Given the description of an element on the screen output the (x, y) to click on. 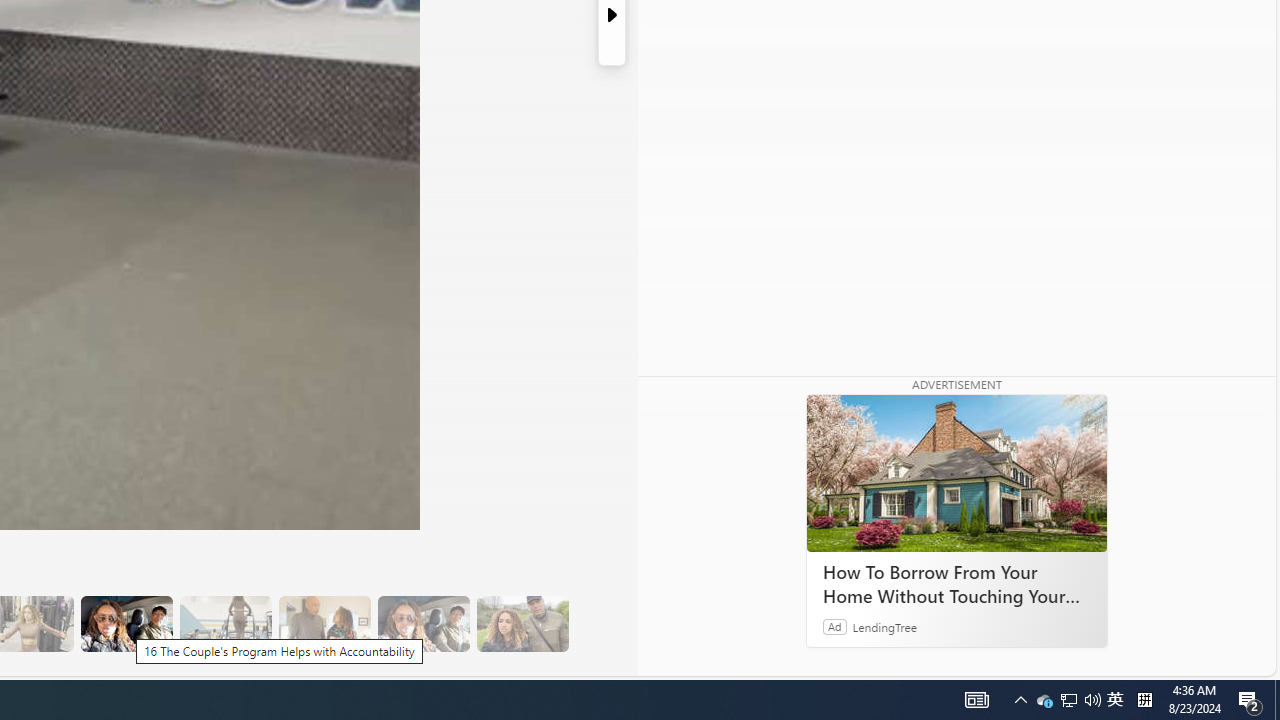
20 Overall, It Will Improve Your Health (522, 624)
